Given the description of an element on the screen output the (x, y) to click on. 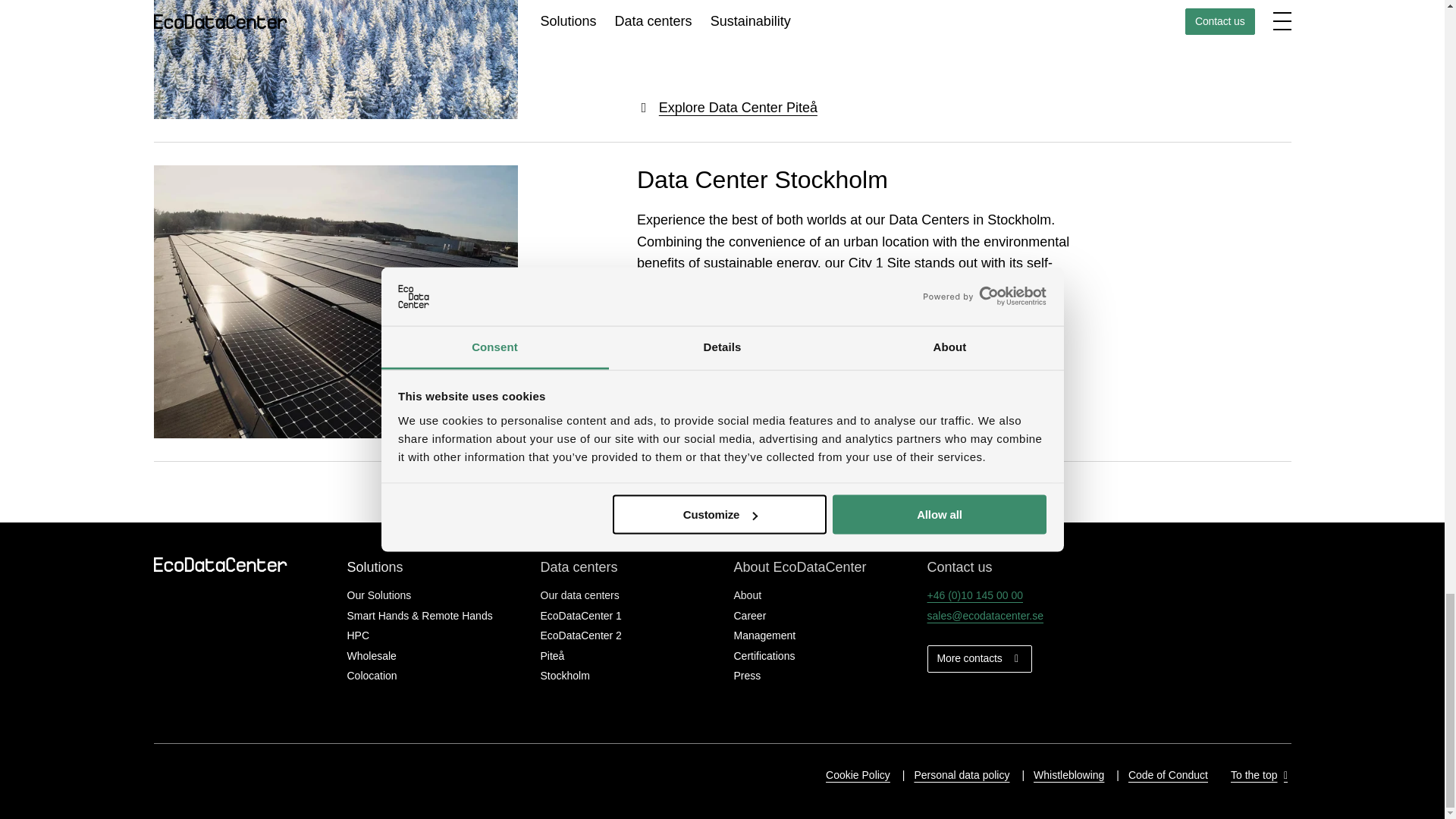
EcoDataCenter (224, 564)
